Given the description of an element on the screen output the (x, y) to click on. 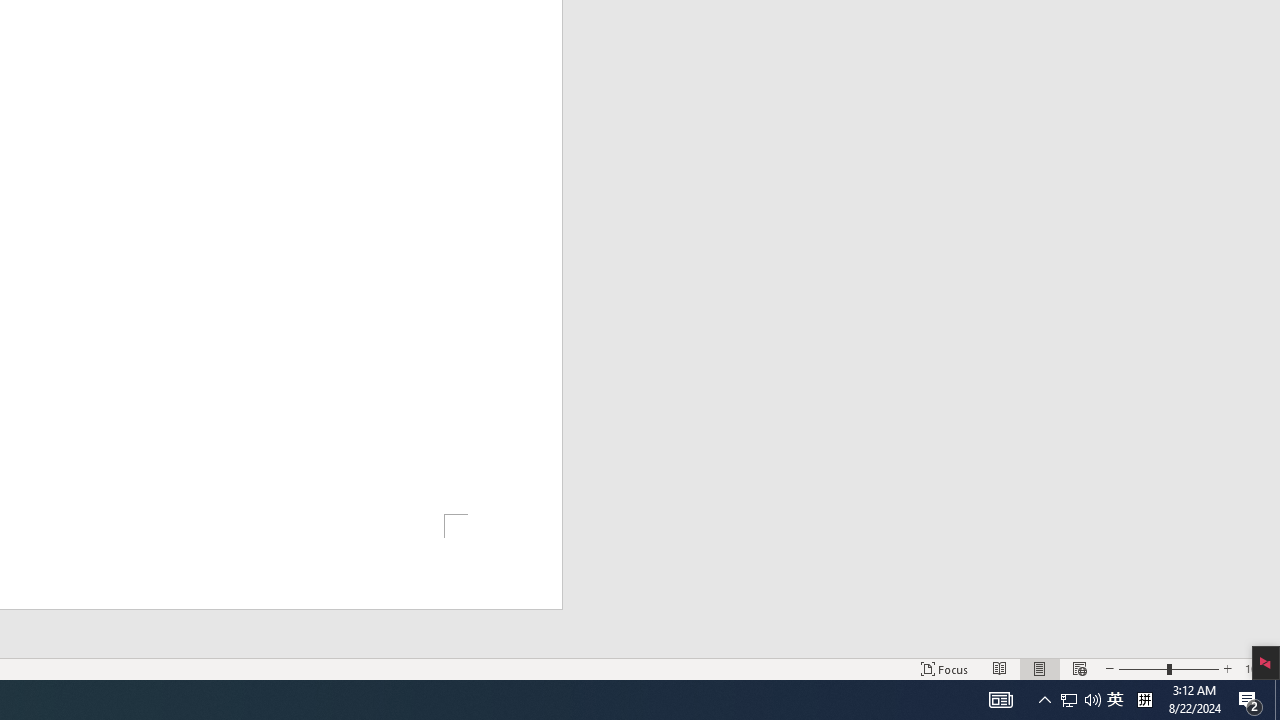
Read Mode (1000, 668)
Zoom Out (1142, 668)
Zoom In (1227, 668)
Print Layout (1039, 668)
Zoom 100% (1258, 668)
Web Layout (1079, 668)
Zoom (1168, 668)
Focus  (944, 668)
